Given the description of an element on the screen output the (x, y) to click on. 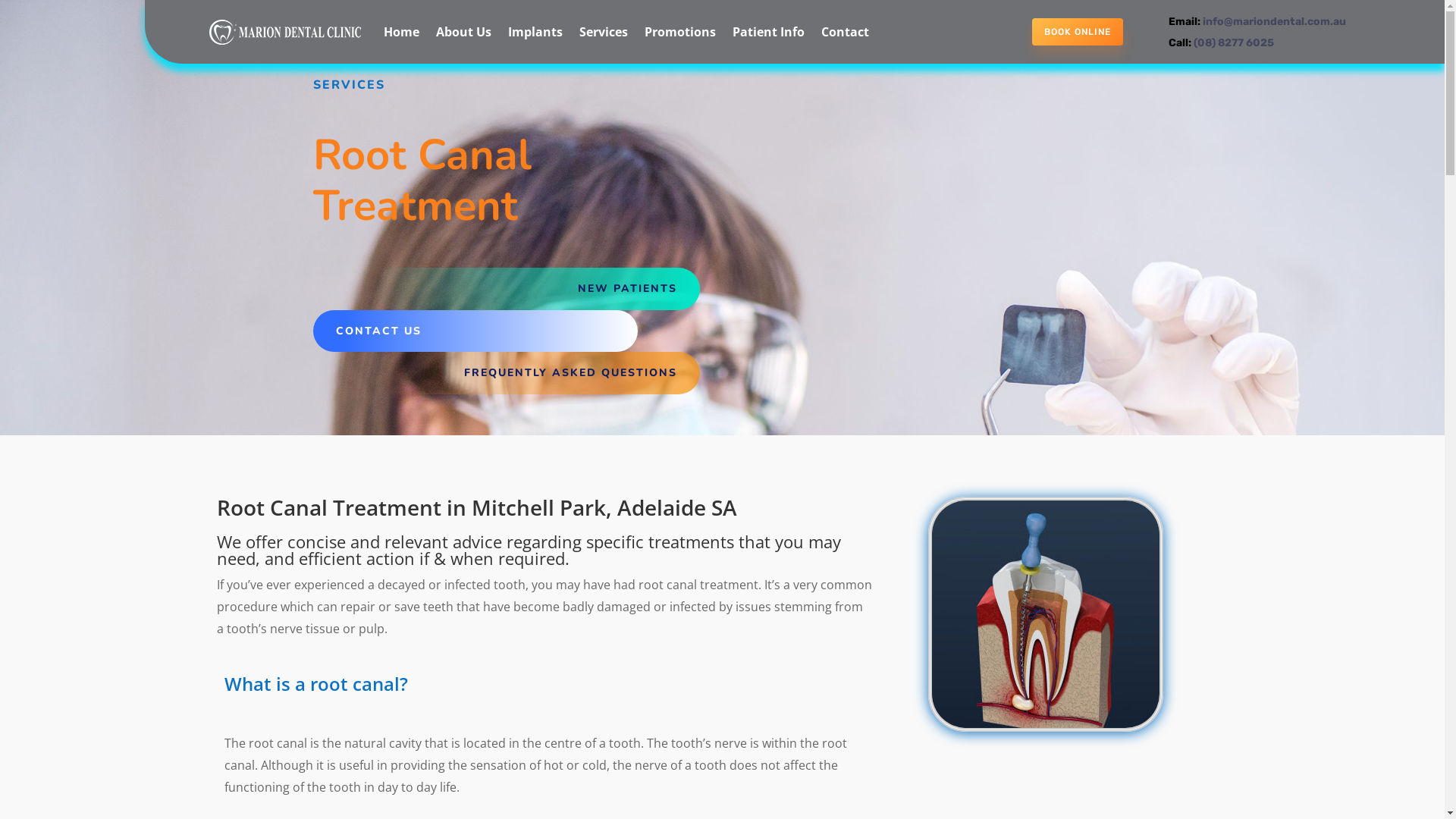
BOOK ONLINE Element type: text (1077, 31)
Services Element type: text (603, 31)
(08) 8277 6025 Element type: text (1233, 42)
Home Element type: text (401, 31)
About Us Element type: text (463, 31)
Promotions Element type: text (679, 31)
Implants Element type: text (535, 31)
Contact Element type: text (845, 31)
Patient Info Element type: text (768, 31)
info@mariondental.com.au Element type: text (1274, 21)
